Given the description of an element on the screen output the (x, y) to click on. 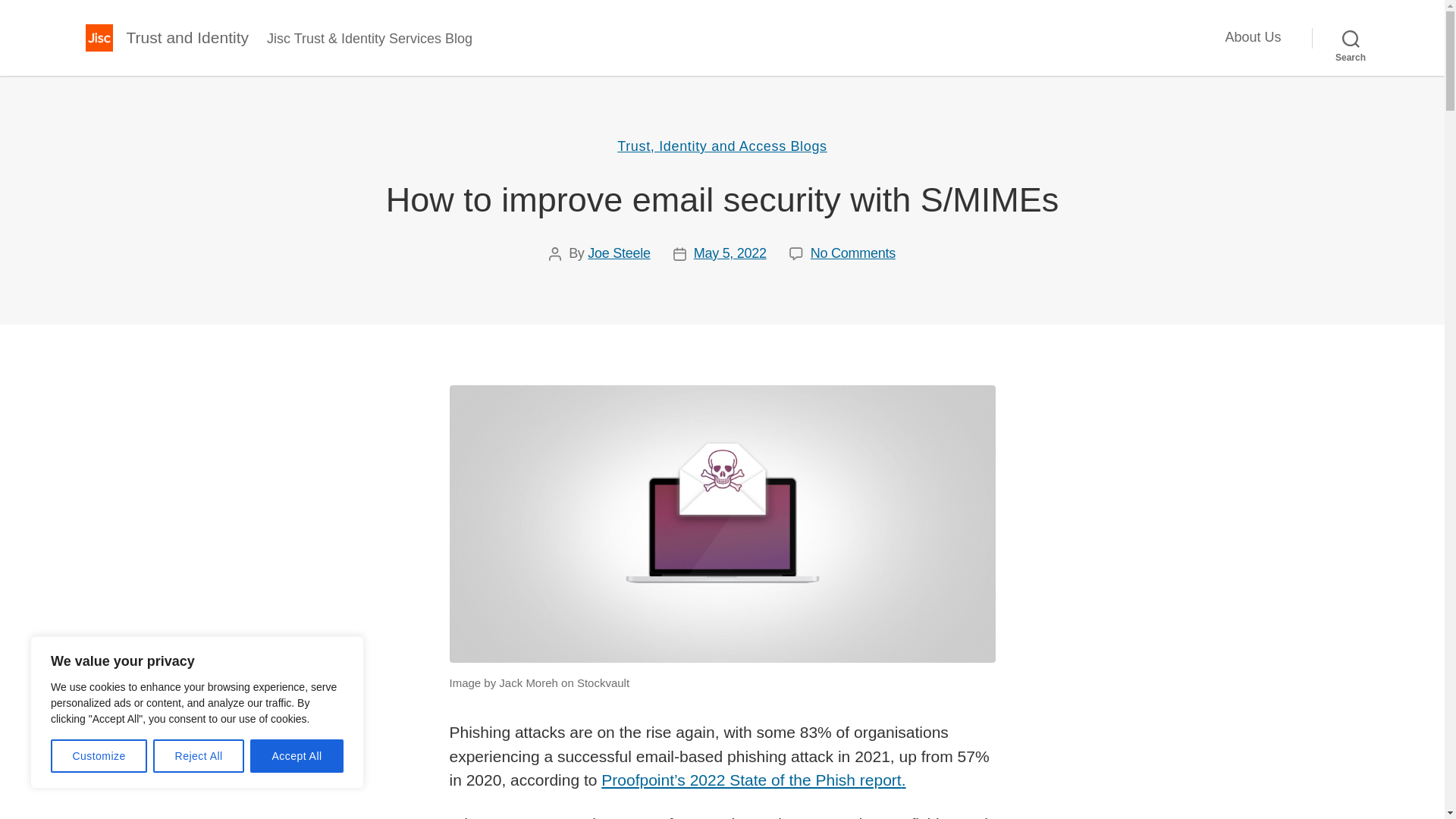
Trust and Identity (186, 36)
Trust, Identity and Access Blogs (722, 146)
Search (1350, 37)
About Us (1252, 37)
May 5, 2022 (730, 253)
Reject All (198, 756)
Customize (98, 756)
Accept All (296, 756)
Go to the Jisc homepage (98, 37)
Joe Steele (618, 253)
